Given the description of an element on the screen output the (x, y) to click on. 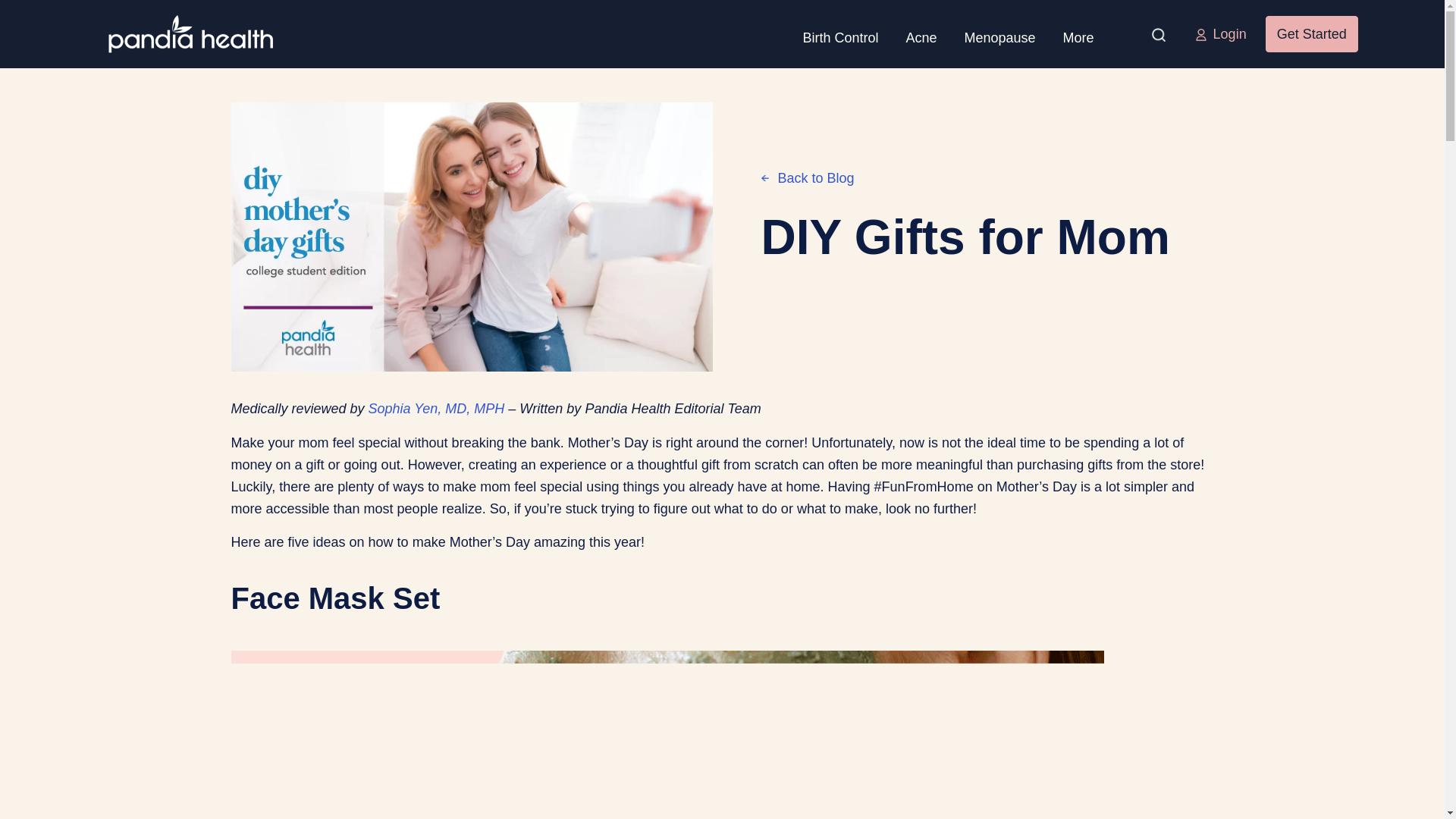
Birth Control (840, 33)
Menopause (999, 33)
Login (1220, 34)
Get Started (1311, 33)
